Given the description of an element on the screen output the (x, y) to click on. 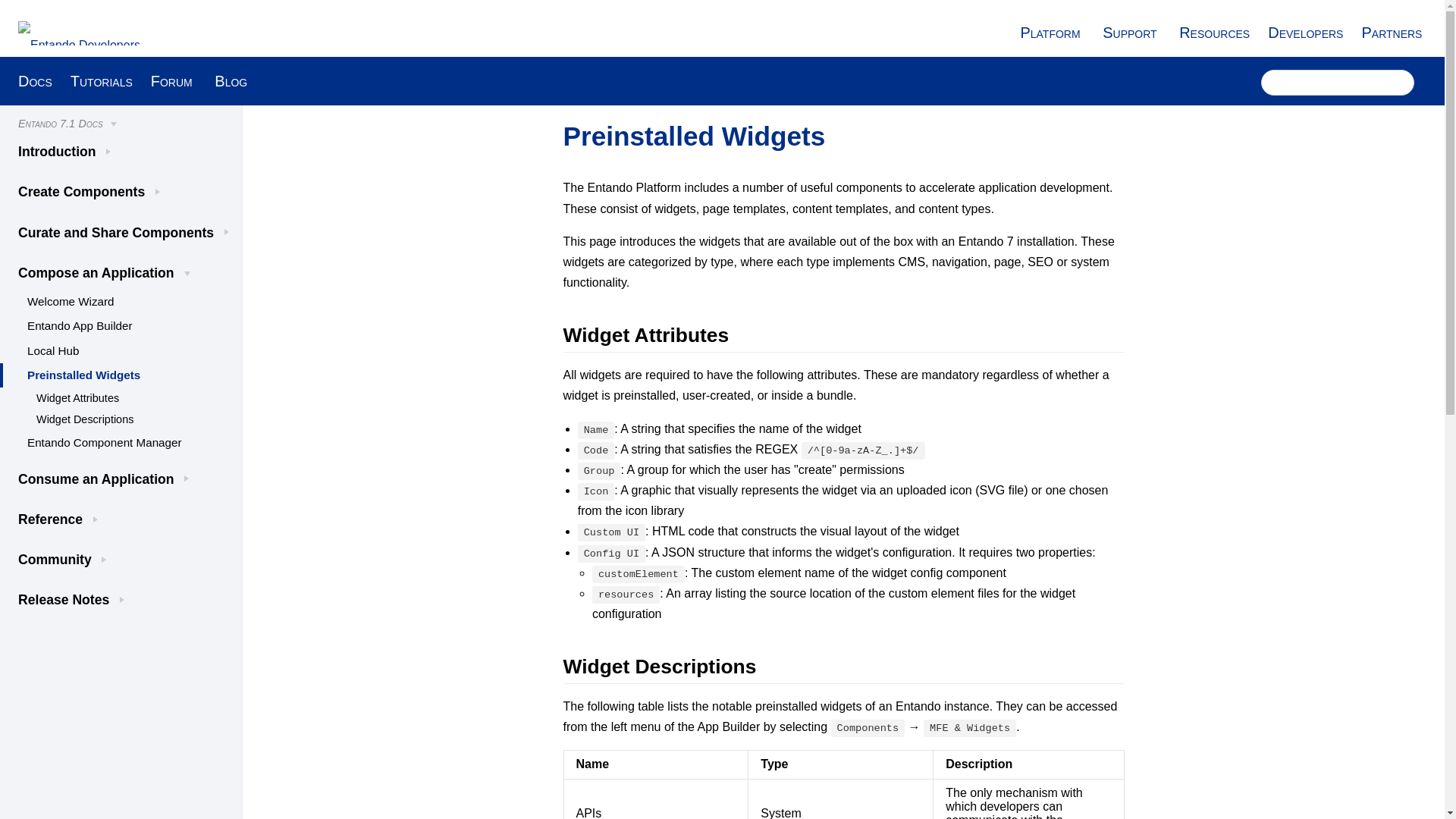
Docs (34, 80)
Blog (230, 80)
Tutorials (100, 80)
Resources (1214, 32)
Developers (1305, 32)
